Given the description of an element on the screen output the (x, y) to click on. 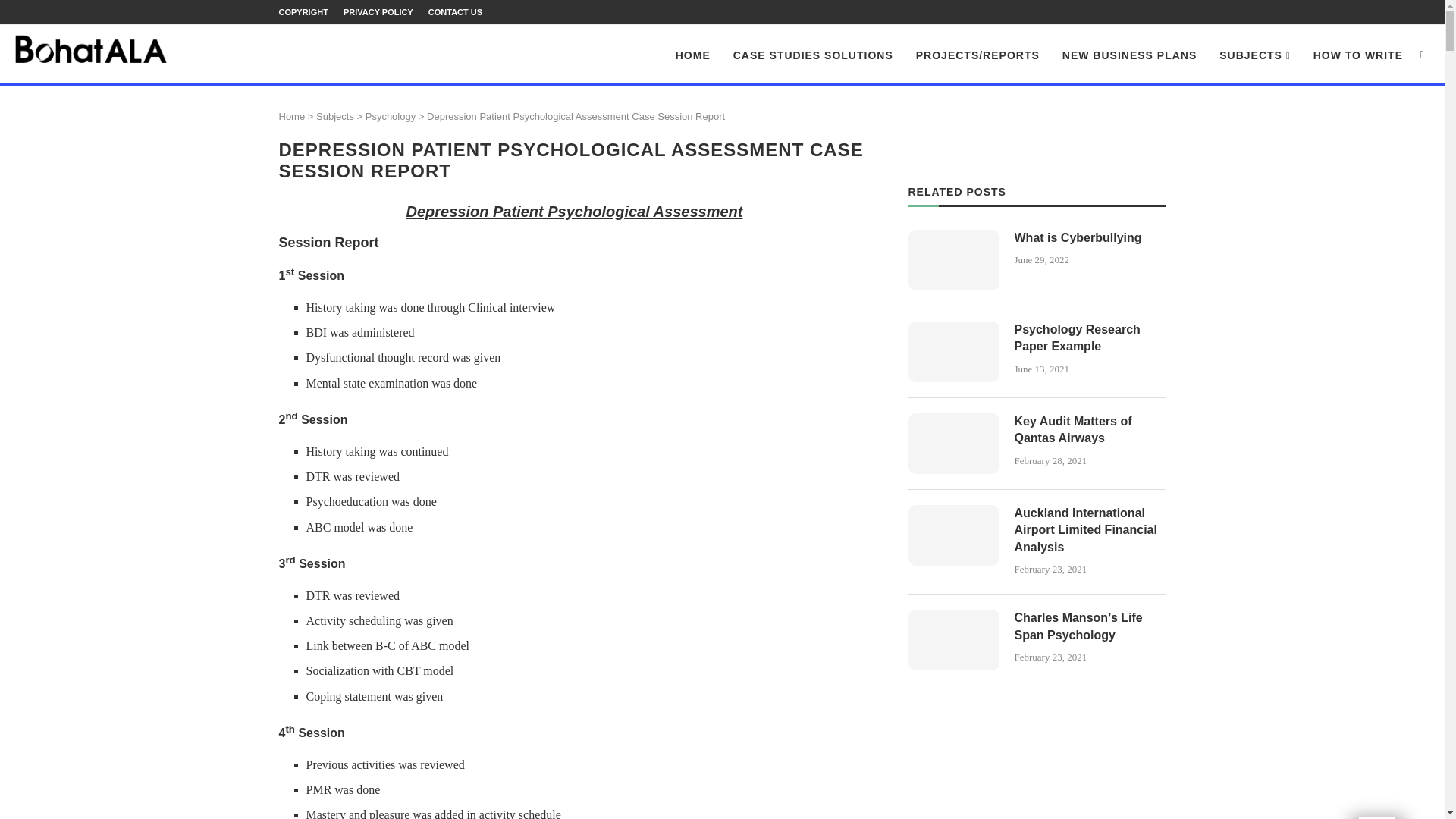
CASE STUDIES SOLUTIONS (813, 55)
HOW TO WRITE (1358, 55)
NEW BUSINESS PLANS (1129, 55)
Home (292, 116)
What is Cyberbullying (953, 260)
SUBJECTS (1255, 55)
Psychology (389, 116)
Subjects (334, 116)
PRIVACY POLICY (378, 12)
CONTACT US (454, 12)
COPYRIGHT (304, 12)
